Given the description of an element on the screen output the (x, y) to click on. 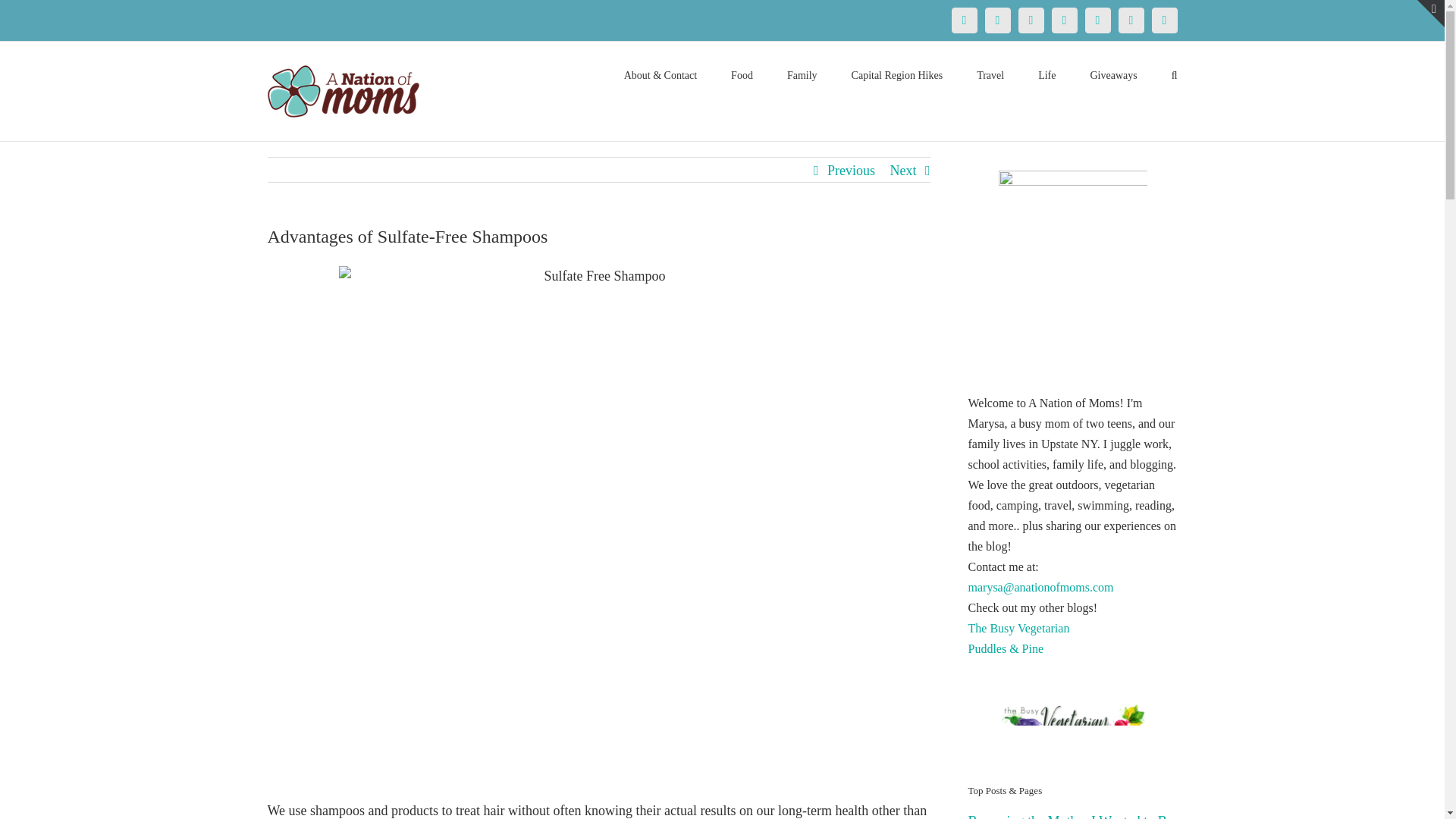
Pinterest (1030, 20)
Capital Region Hikes (897, 74)
Email (1163, 20)
Pinterest (1030, 20)
Twitter (997, 20)
Facebook (963, 20)
YouTube (1096, 20)
Twitter (997, 20)
Instagram (1064, 20)
YouTube (1096, 20)
